Given the description of an element on the screen output the (x, y) to click on. 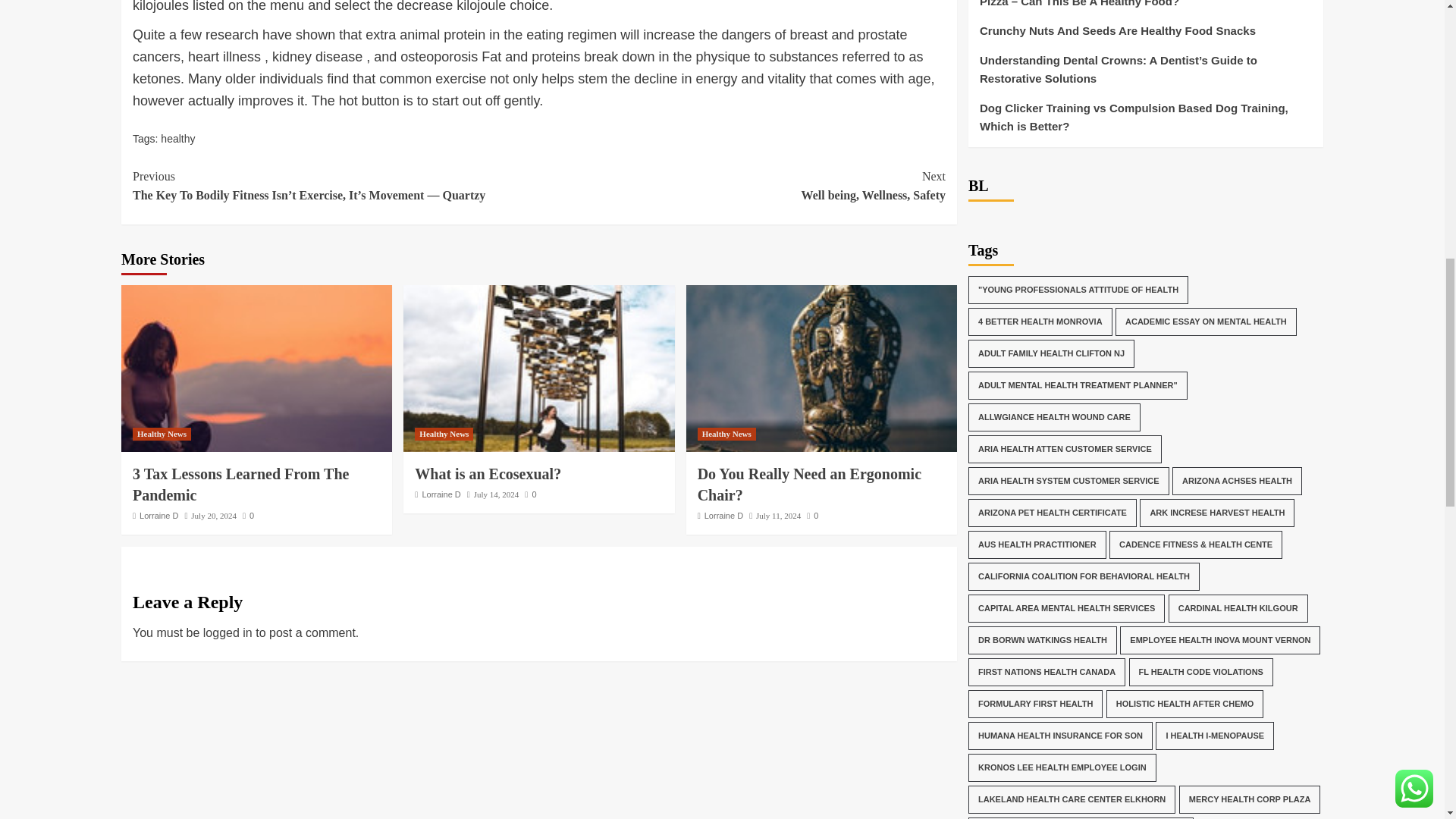
3 Tax Lessons Learned From The Pandemic (255, 368)
healthy (177, 138)
What is an Ecosexual? (487, 474)
Lorraine D (158, 515)
0 (529, 493)
Healthy News (726, 433)
Do You Really Need an Ergonomic Chair? (820, 368)
July 20, 2024 (212, 515)
July 14, 2024 (496, 493)
Lorraine D (441, 493)
Healthy News (443, 433)
Healthy News (161, 433)
What is an Ecosexual? (538, 368)
3 Tax Lessons Learned From The Pandemic (741, 186)
